Given the description of an element on the screen output the (x, y) to click on. 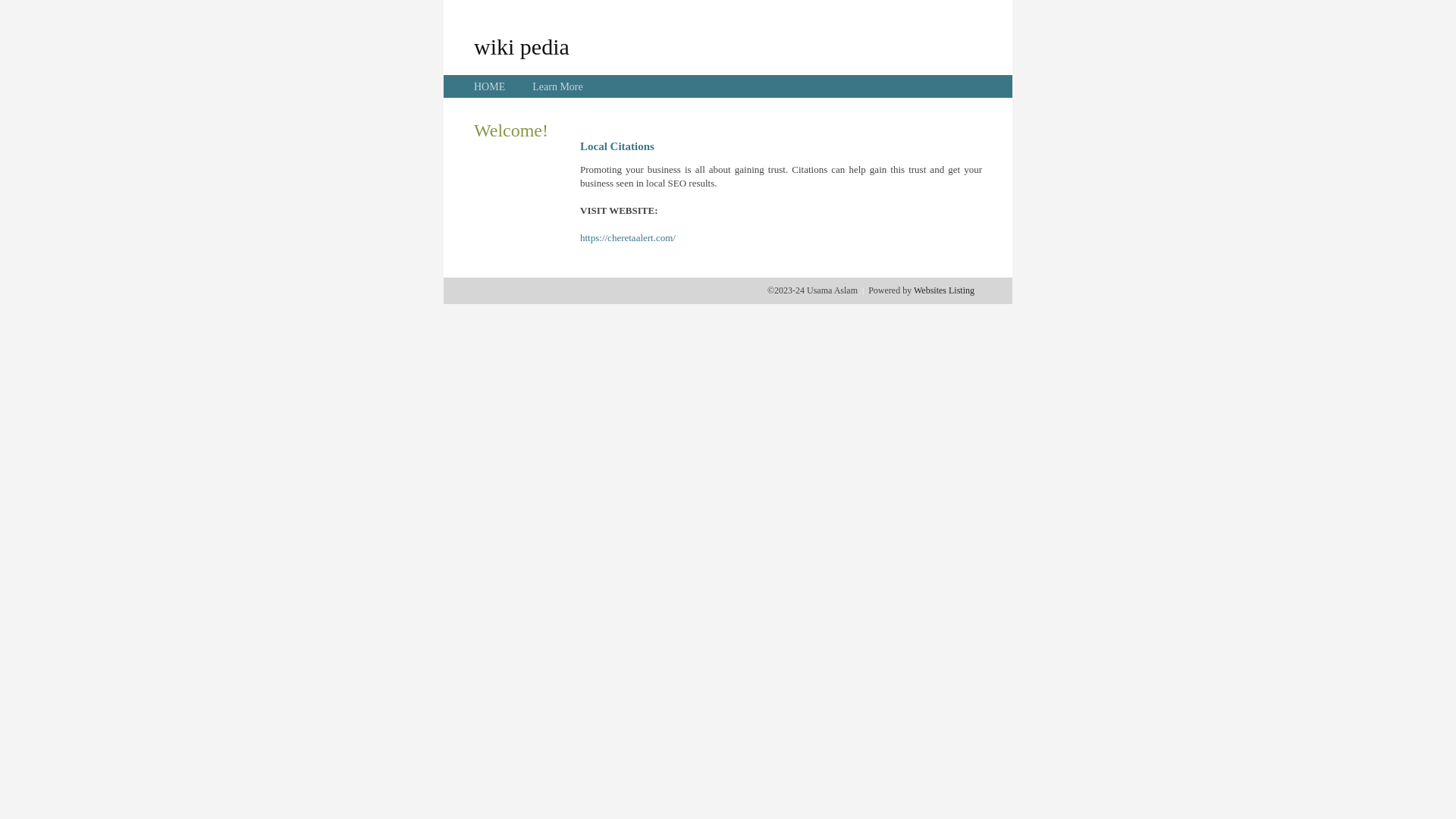
Learn More Element type: text (557, 86)
Websites Listing Element type: text (943, 290)
wiki pedia Element type: text (521, 46)
HOME Element type: text (489, 86)
https://cheretaalert.com/ Element type: text (627, 237)
